Given the description of an element on the screen output the (x, y) to click on. 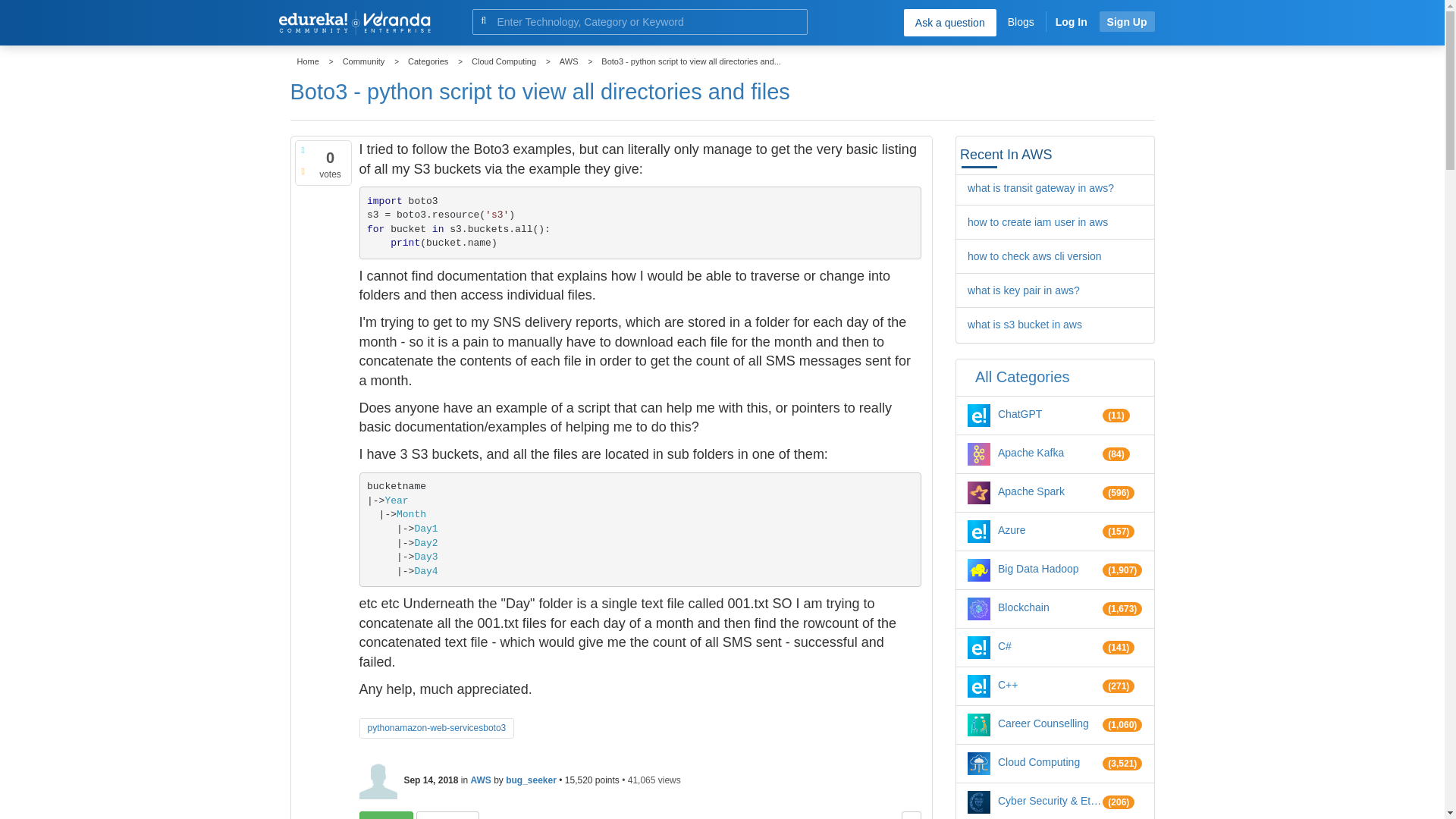
Blogs (1020, 21)
Ask a question (949, 22)
